Given the description of an element on the screen output the (x, y) to click on. 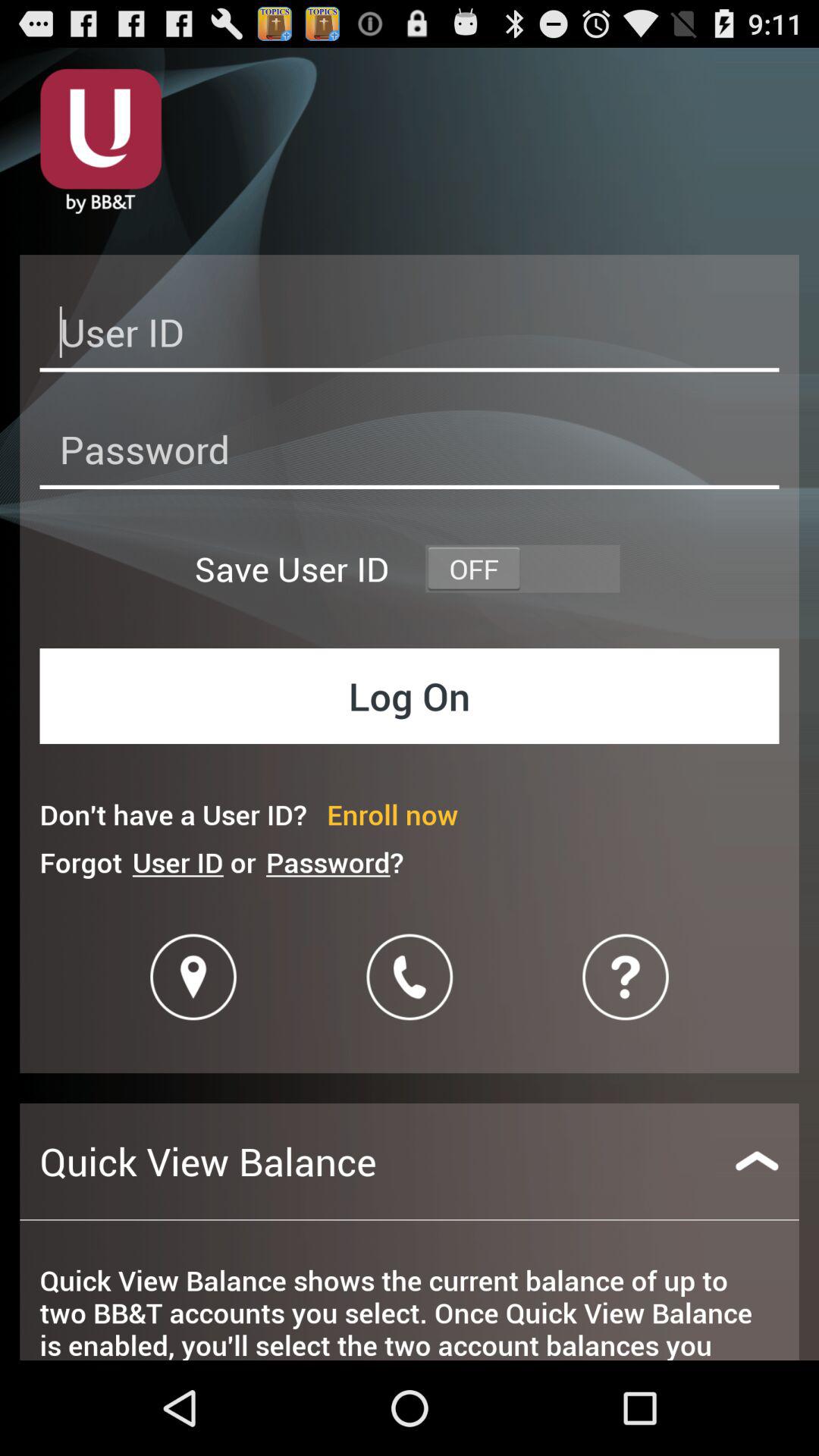
launch the log on item (409, 695)
